Given the description of an element on the screen output the (x, y) to click on. 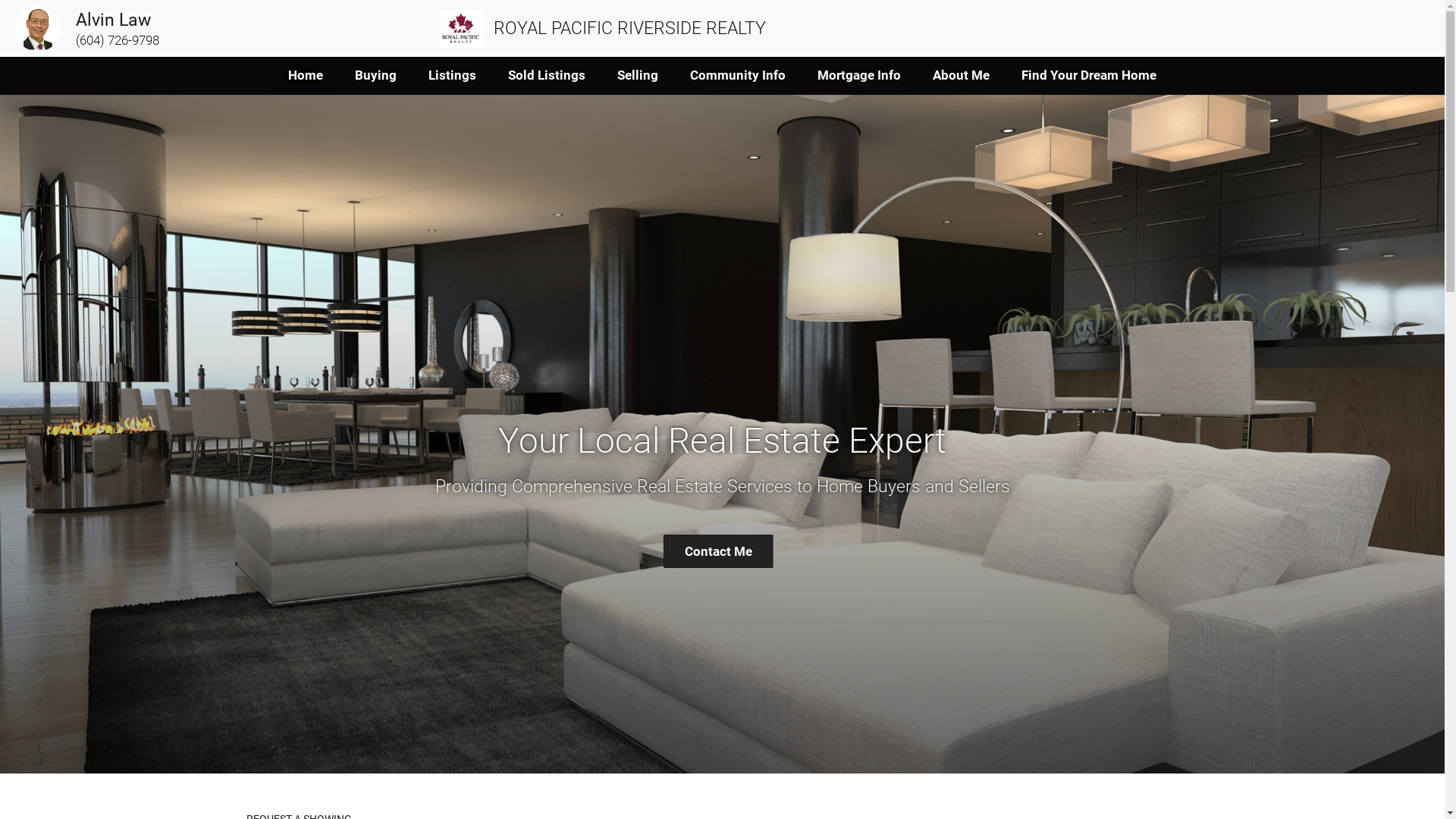
About Me Element type: text (960, 75)
Home Element type: text (305, 75)
Contact Me Element type: text (718, 550)
Find Your Dream Home Element type: text (1088, 75)
Selling Element type: text (637, 75)
Community Info Element type: text (737, 75)
Mortgage Info Element type: text (858, 75)
Listings Element type: text (452, 75)
Buying Element type: text (375, 75)
Sold Listings Element type: text (546, 75)
